Given the description of an element on the screen output the (x, y) to click on. 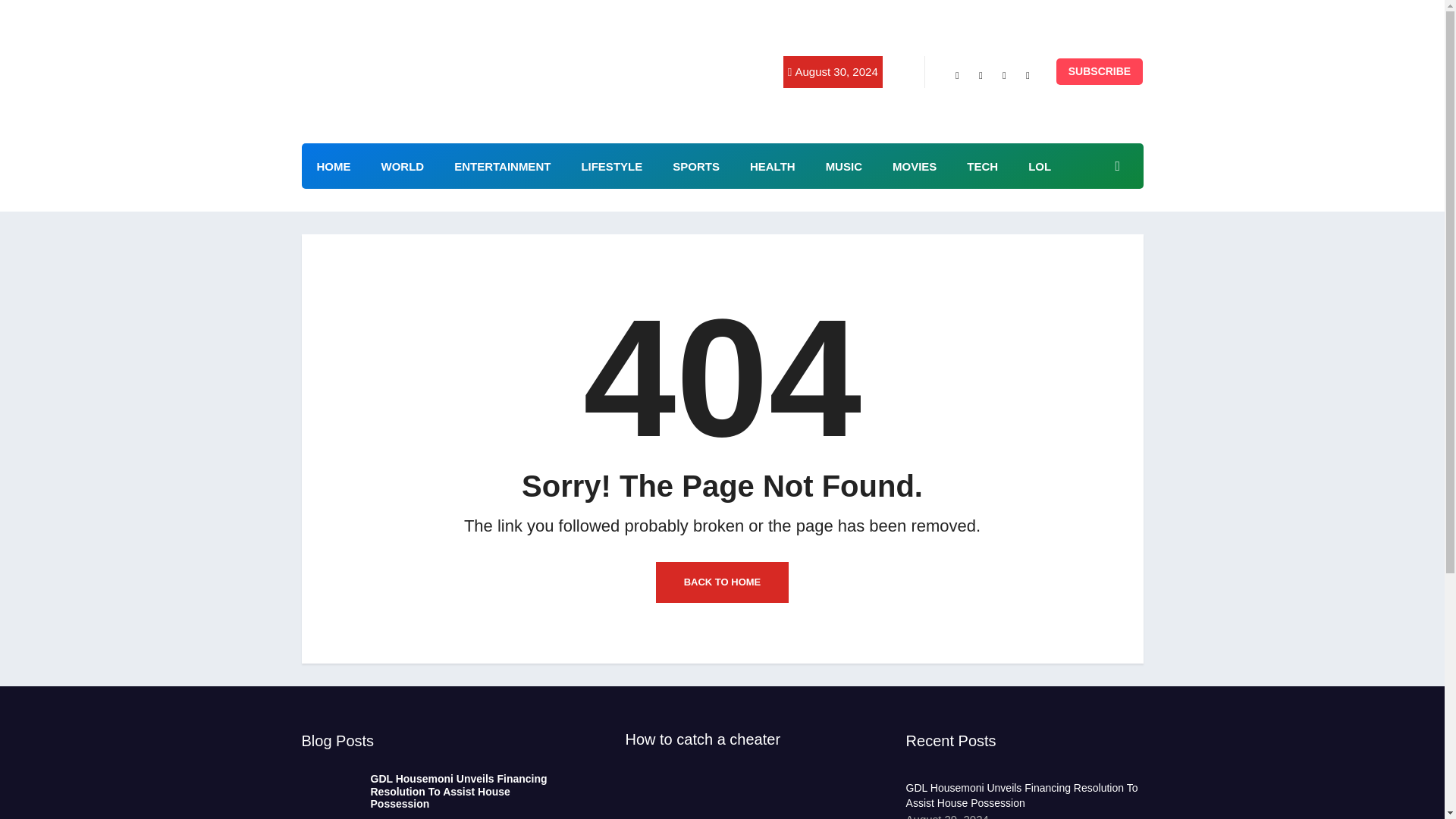
SPORTS (696, 166)
HEALTH (772, 166)
MOVIES (914, 166)
WORLD (402, 166)
MUSIC (843, 166)
SUBSCRIBE (1099, 71)
LOL (1039, 166)
HOME (333, 166)
